Given the description of an element on the screen output the (x, y) to click on. 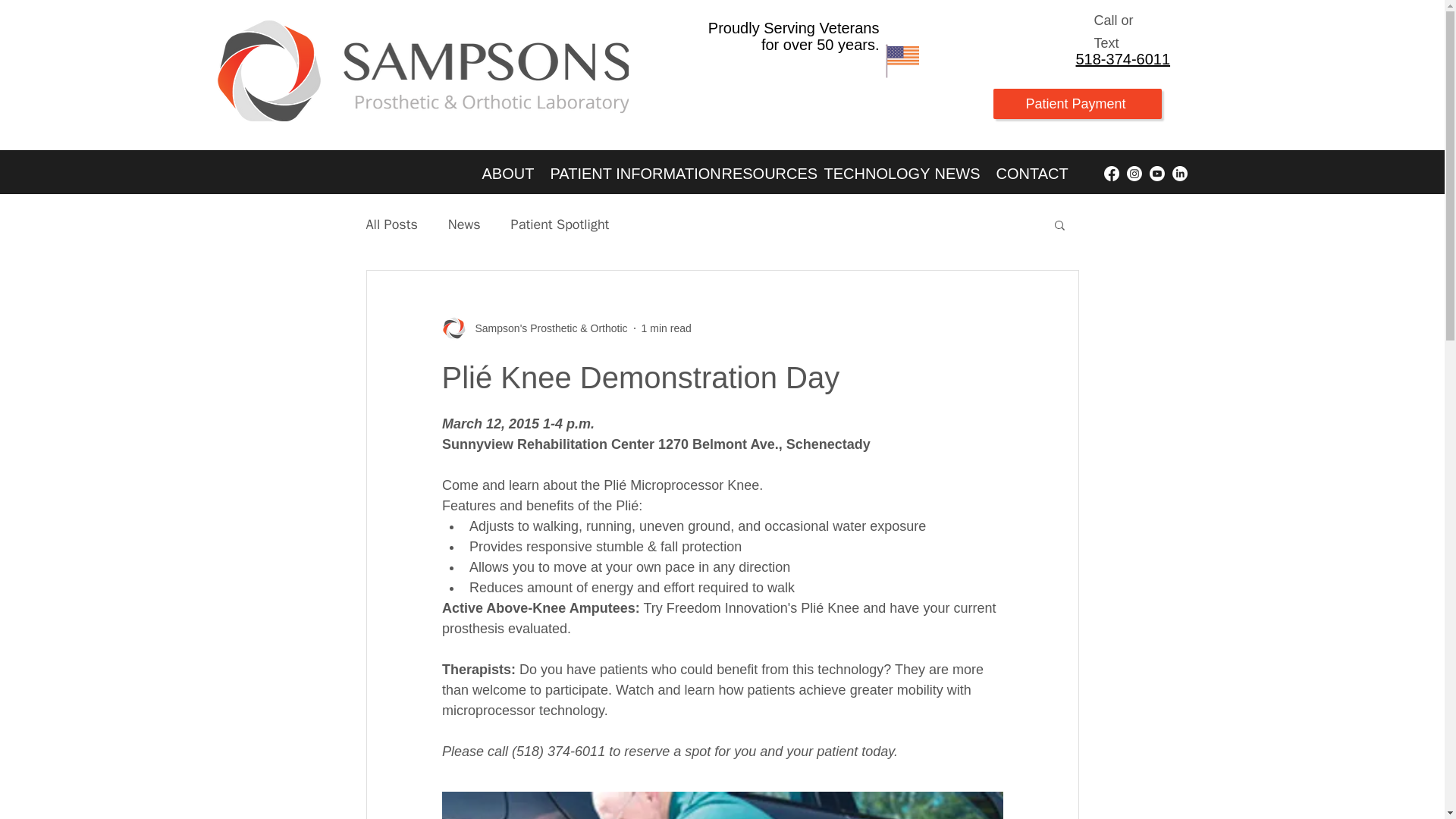
All Posts (390, 224)
News (464, 224)
Patient Payment (1076, 103)
518-374-6011 (1122, 58)
Patient Spotlight (560, 224)
TECHNOLOGY (867, 173)
CONTACT (1025, 173)
1 min read (666, 328)
